Given the description of an element on the screen output the (x, y) to click on. 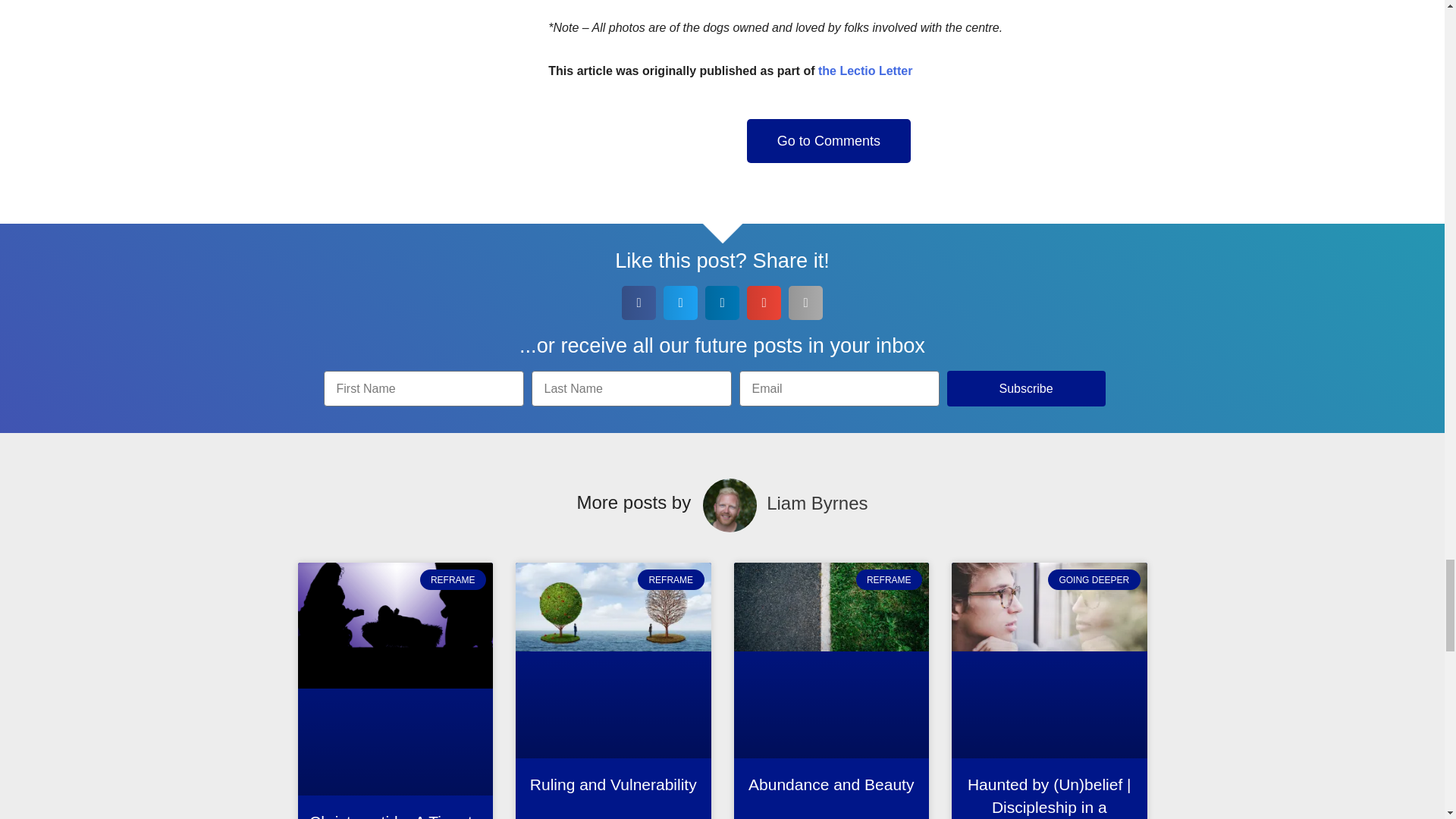
Ruling and Vulnerability (613, 784)
the Lectio Letter (865, 70)
Liam Byrnes (817, 502)
Go to Comments (828, 140)
Subscribe (1025, 388)
Abundance and Beauty (831, 784)
Christmastide: A Time to Escape or Inhabit? (394, 816)
